Given the description of an element on the screen output the (x, y) to click on. 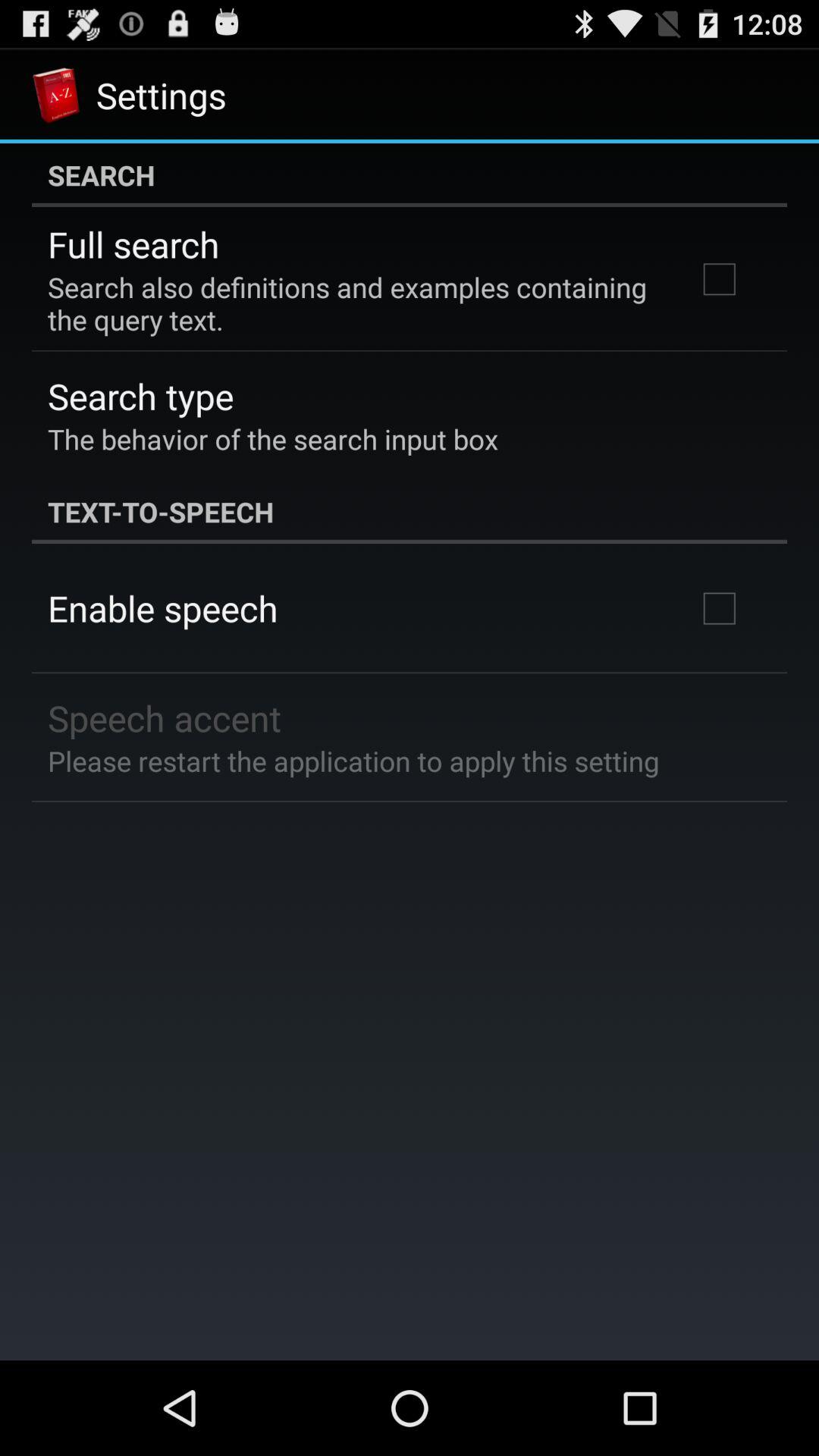
turn off the icon above please restart the item (164, 717)
